Given the description of an element on the screen output the (x, y) to click on. 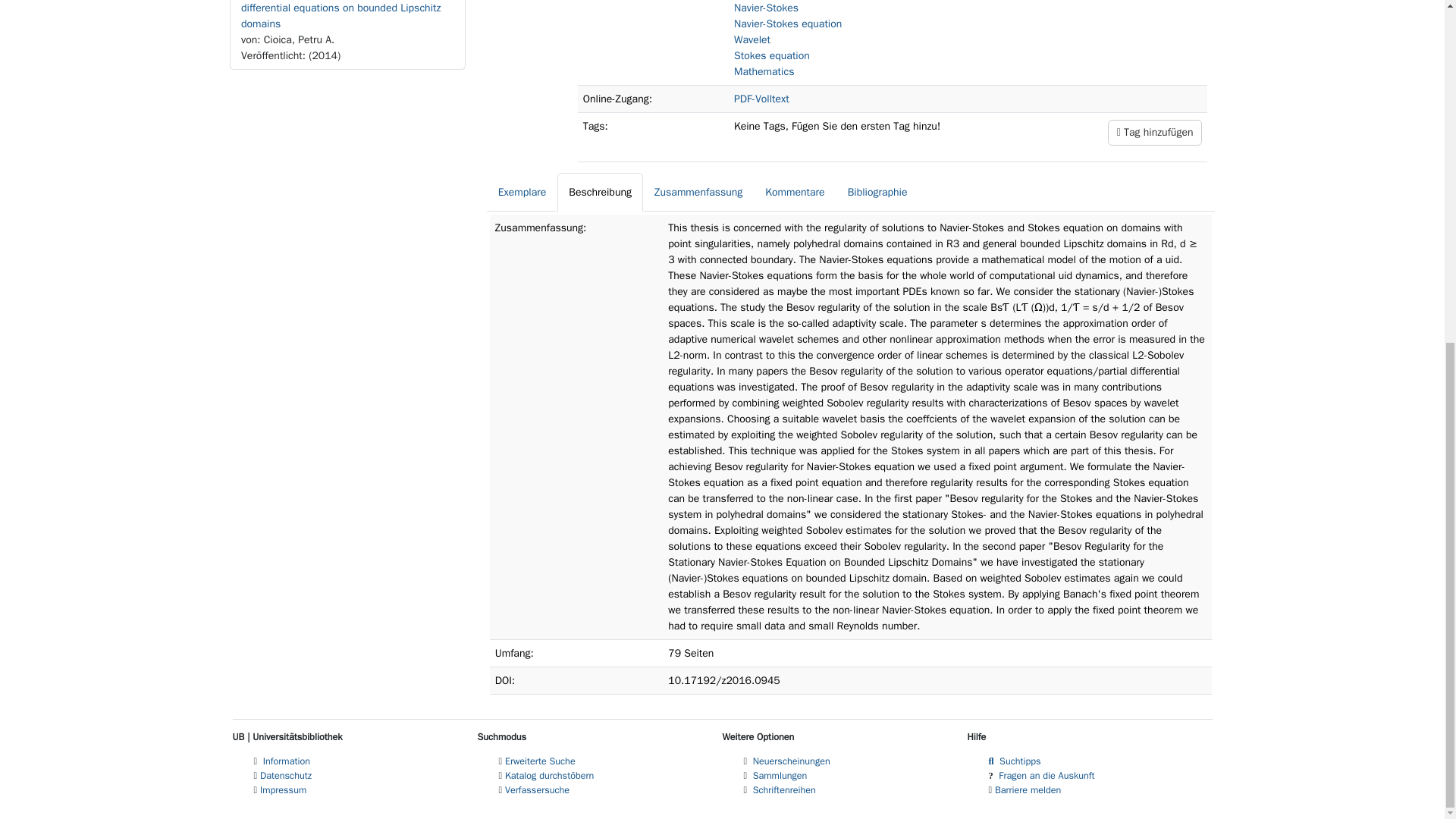
Navier-Stokes (765, 7)
Stokes equation (771, 55)
Navier-Stokes equation (787, 23)
Wavelet (751, 39)
Mathematics (763, 71)
